Given the description of an element on the screen output the (x, y) to click on. 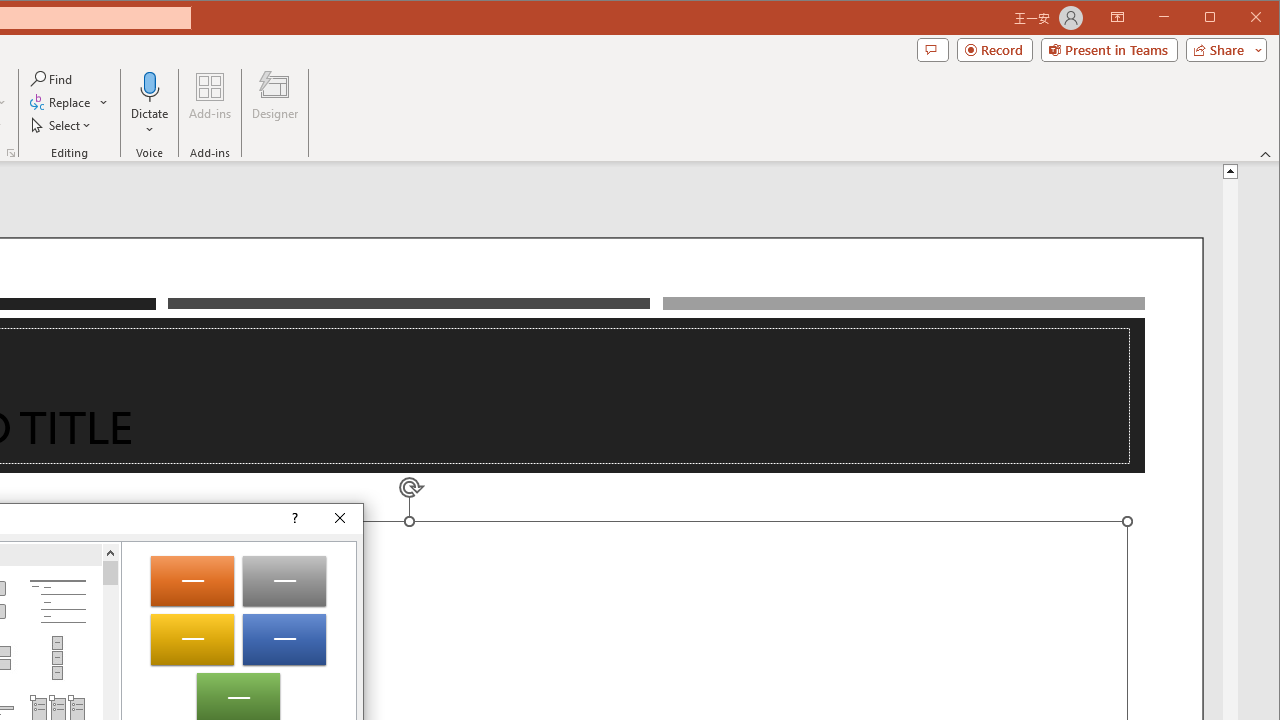
Context help (293, 518)
Line up (110, 552)
Select (62, 124)
Replace... (61, 101)
